Given the description of an element on the screen output the (x, y) to click on. 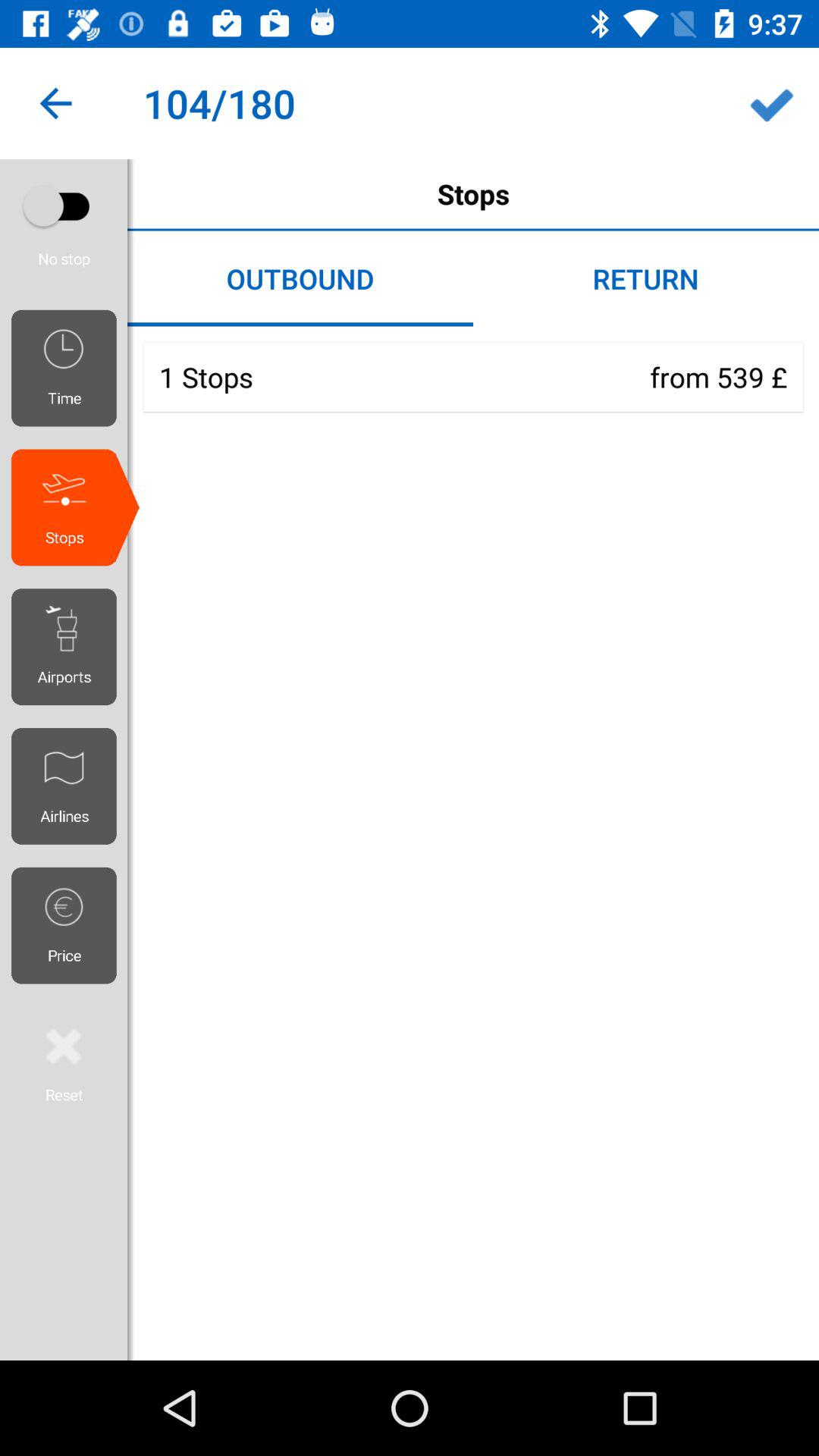
toggle stops option (63, 206)
